Given the description of an element on the screen output the (x, y) to click on. 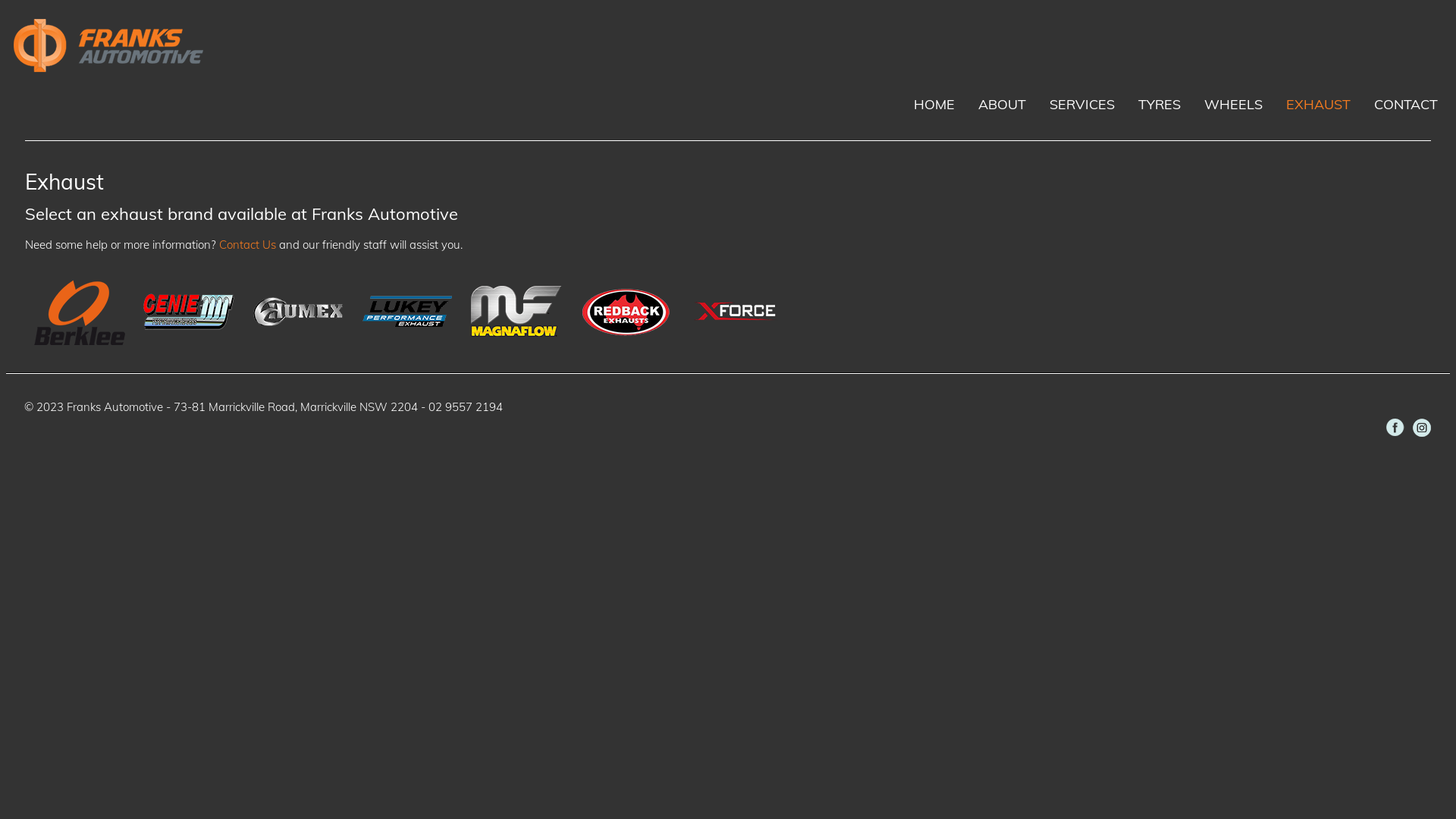
TYRES Element type: text (1159, 103)
Instagram Element type: hover (1421, 427)
EXHAUST Element type: text (1318, 103)
Facebook Element type: hover (1395, 427)
WHEELS Element type: text (1233, 103)
ABOUT Element type: text (1001, 103)
HOME Element type: text (934, 103)
SERVICES Element type: text (1081, 103)
CONTACT Element type: text (1405, 103)
Contact Us Element type: text (247, 244)
02 9557 2194 Element type: text (465, 406)
